Given the description of an element on the screen output the (x, y) to click on. 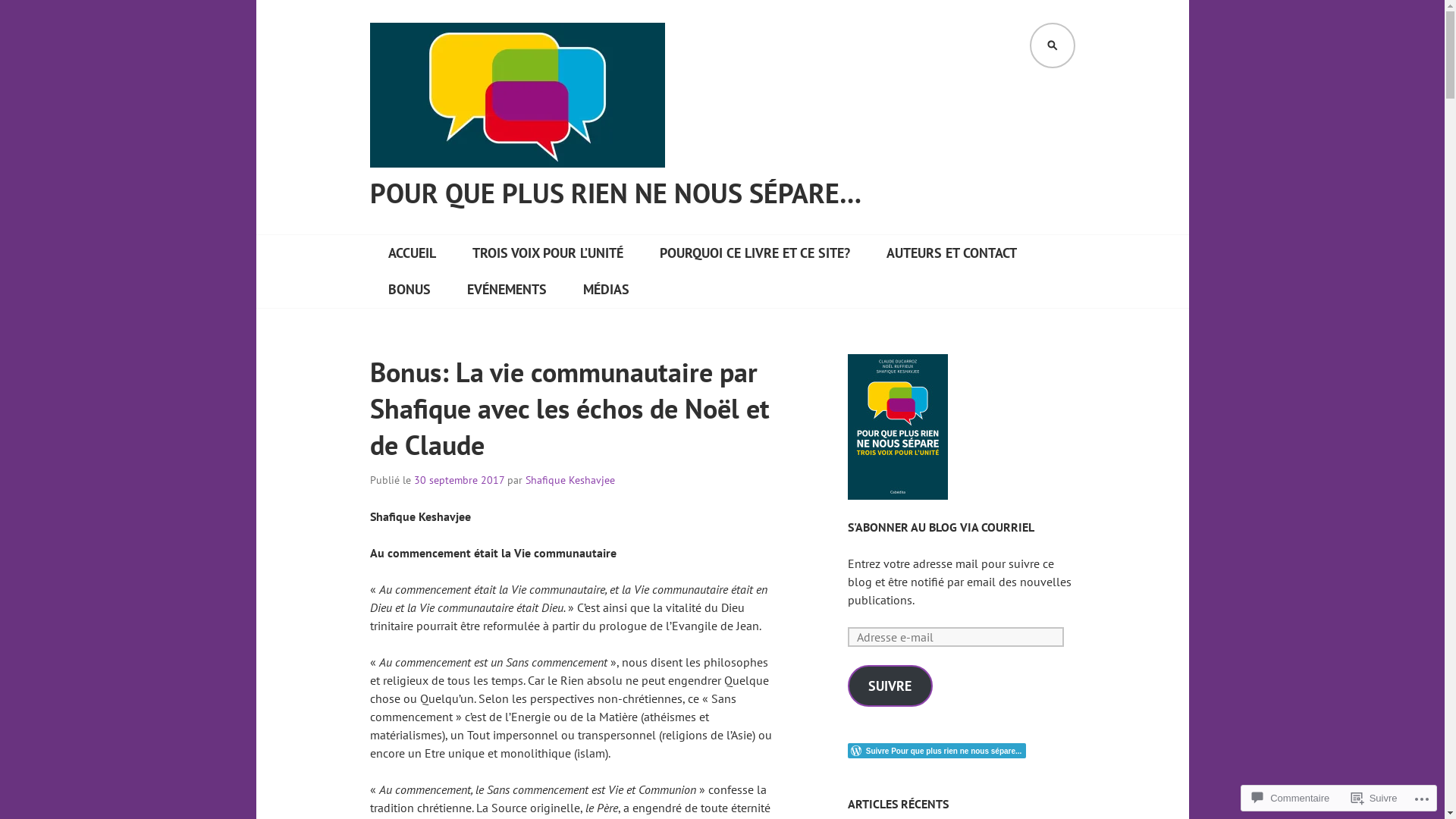
Suivre Element type: text (1374, 797)
30 septembre 2017 Element type: text (459, 479)
BONUS Element type: text (409, 289)
Commentaire Element type: text (1290, 797)
Shafique Keshavjee Element type: text (569, 479)
SUIVRE Element type: text (890, 685)
ACCUEIL Element type: text (412, 253)
AUTEURS ET CONTACT Element type: text (950, 253)
POURQUOI CE LIVRE ET CE SITE? Element type: text (754, 253)
